Given the description of an element on the screen output the (x, y) to click on. 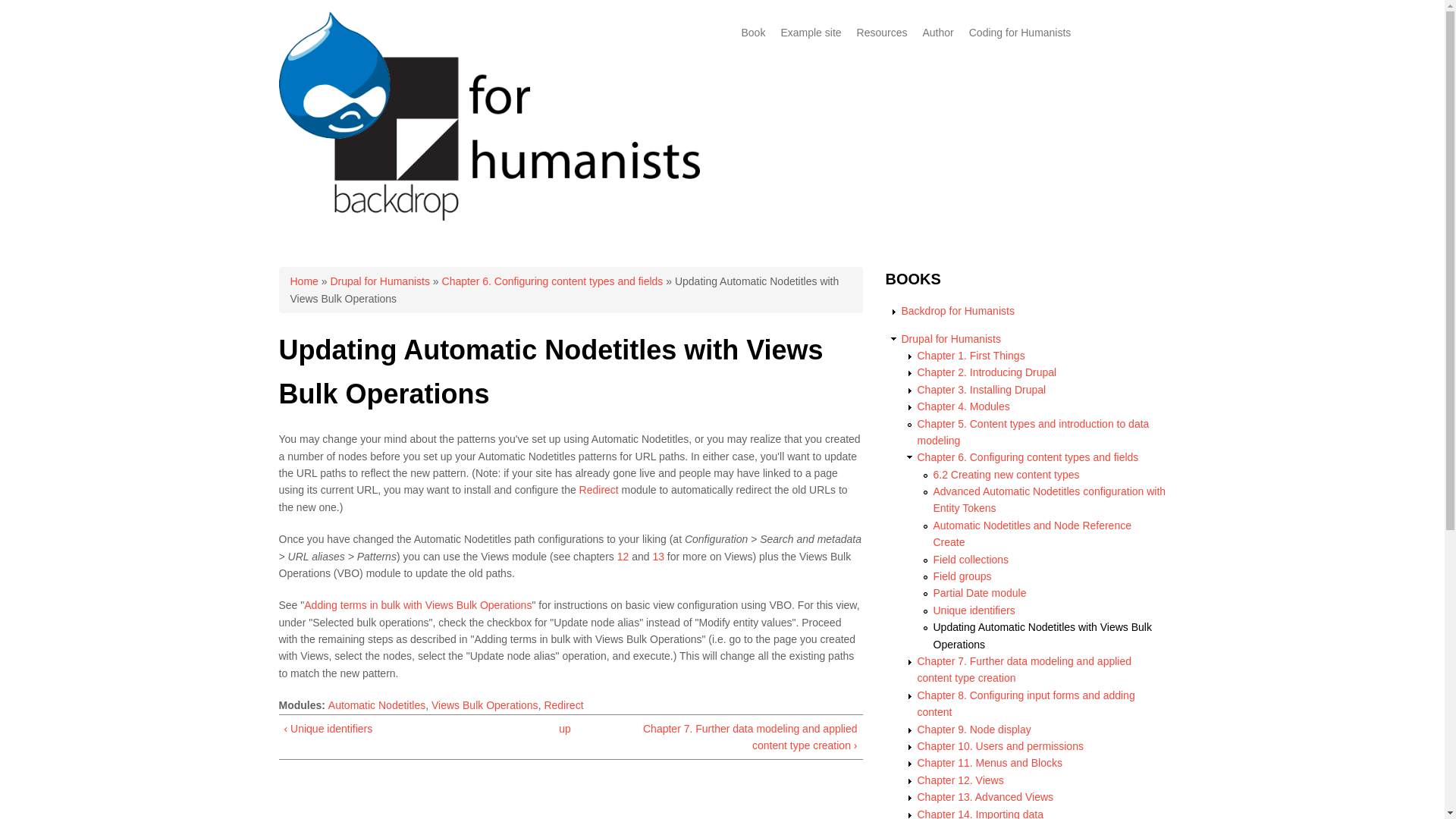
Drupal for Humanists (951, 338)
Chapter 6. Configuring content types and fields (552, 281)
Automatic Nodetitles (377, 705)
13 (657, 556)
Adding terms in bulk with Views Bulk Operations (417, 604)
Example site (810, 32)
Go to parent page (564, 728)
Views Bulk Operations (484, 705)
Redirect (563, 705)
